Given the description of an element on the screen output the (x, y) to click on. 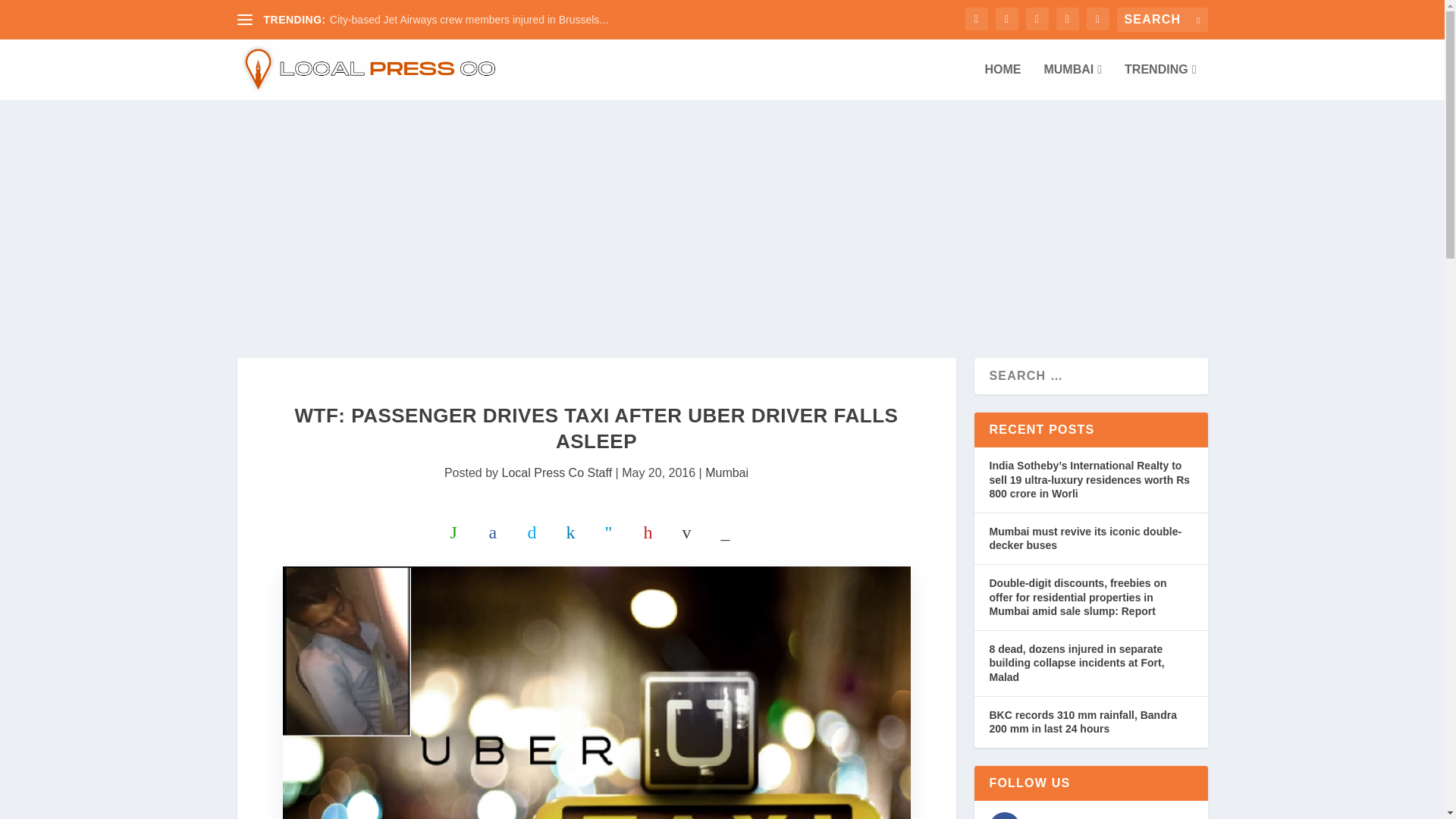
Search for: (1161, 19)
HOME (1002, 81)
City-based Jet Airways crew members injured in Brussels... (469, 19)
MUMBAI (1072, 81)
TRENDING (1159, 81)
